Given the description of an element on the screen output the (x, y) to click on. 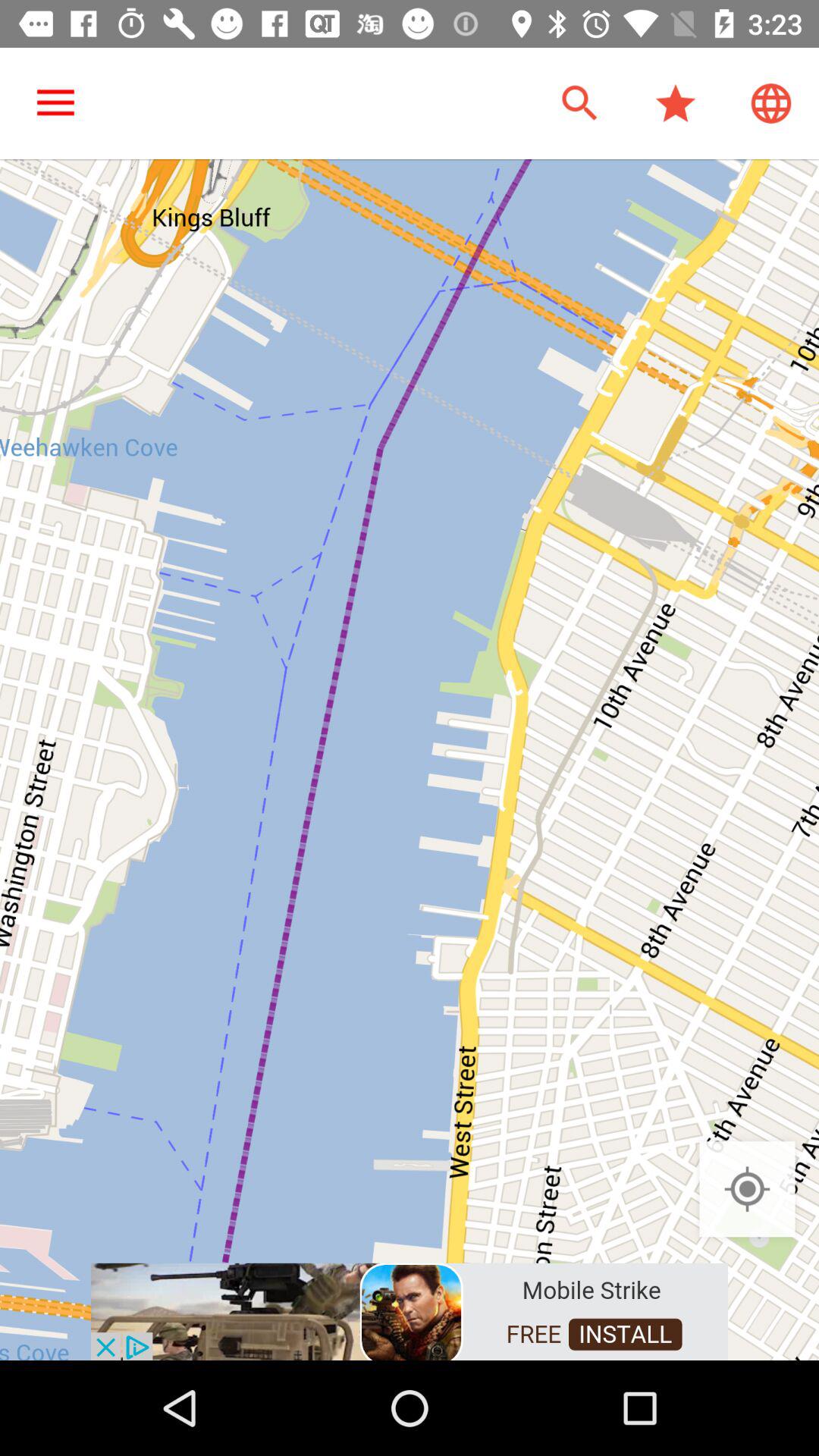
tap the item at the top left corner (55, 103)
